Given the description of an element on the screen output the (x, y) to click on. 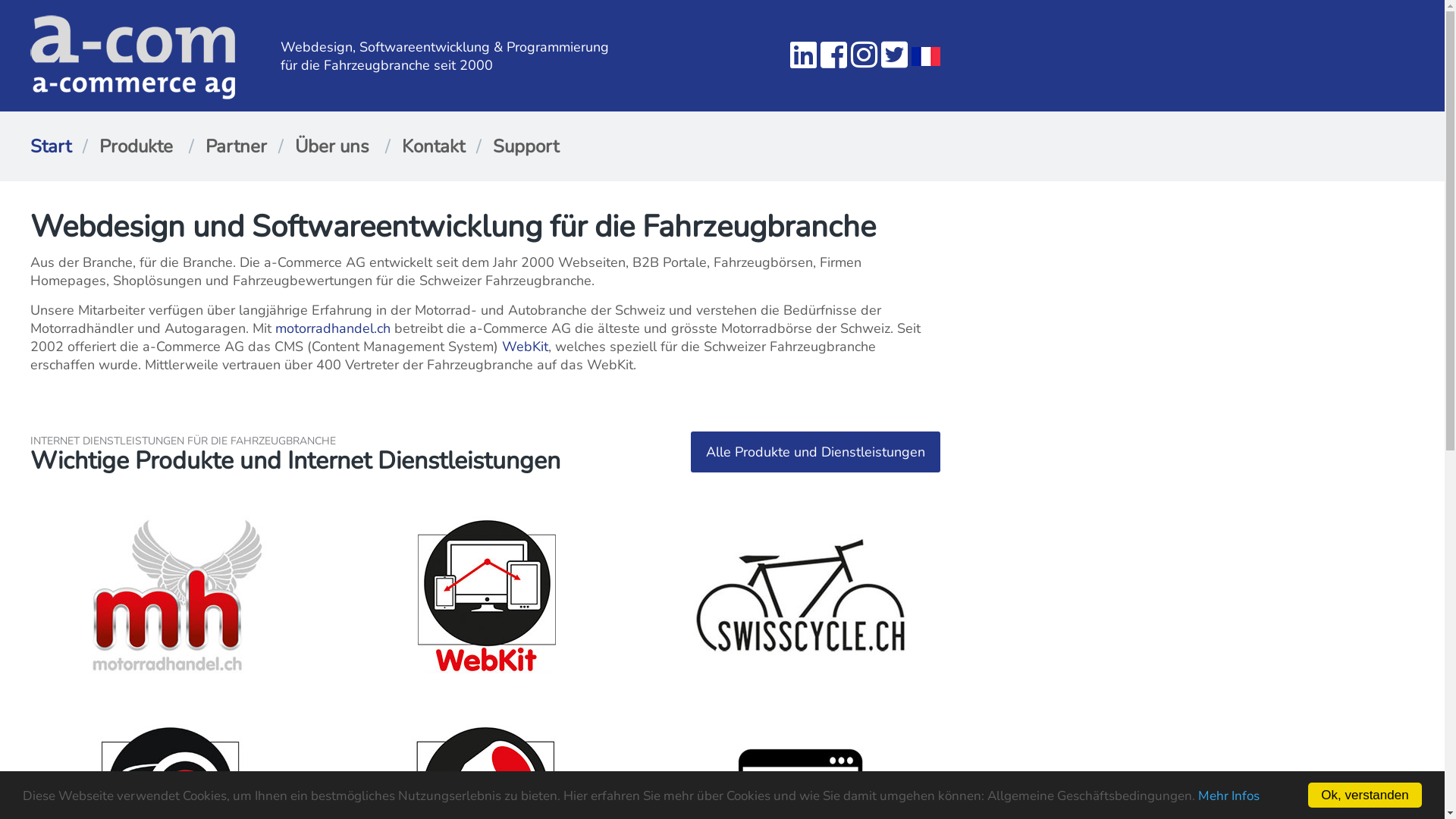
Partner Element type: text (235, 146)
Mehr Infos Element type: text (1228, 795)
Start Element type: text (50, 146)
Alle Produkte und Dienstleistungen Element type: text (815, 451)
WebKit Element type: text (525, 346)
Ok, verstanden Element type: text (1364, 794)
Produkte Element type: text (135, 146)
Kontakt Element type: text (432, 146)
motorradhandel.ch Element type: text (332, 328)
Support Element type: text (525, 146)
